Given the description of an element on the screen output the (x, y) to click on. 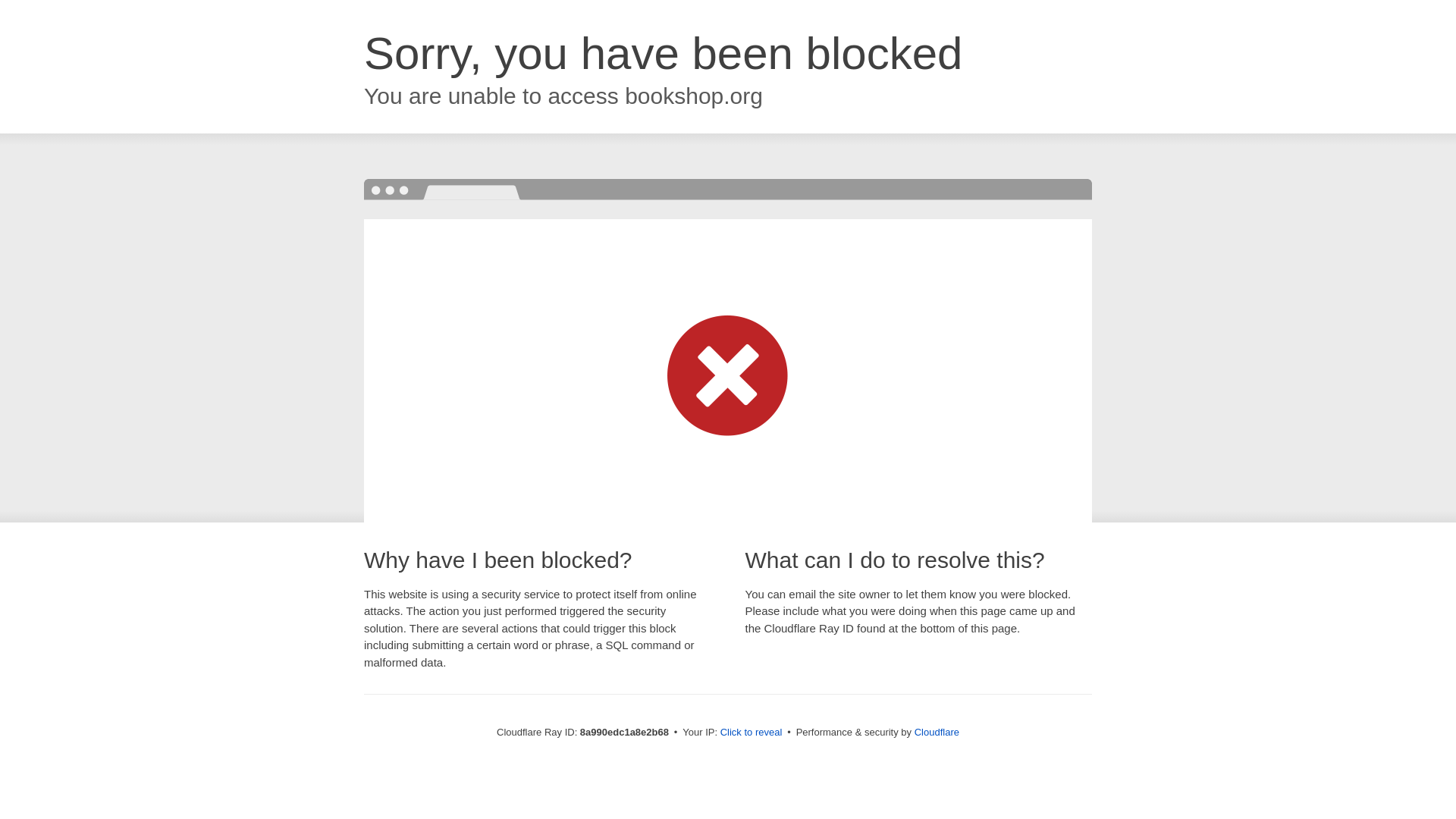
Cloudflare (936, 731)
Click to reveal (751, 732)
